Given the description of an element on the screen output the (x, y) to click on. 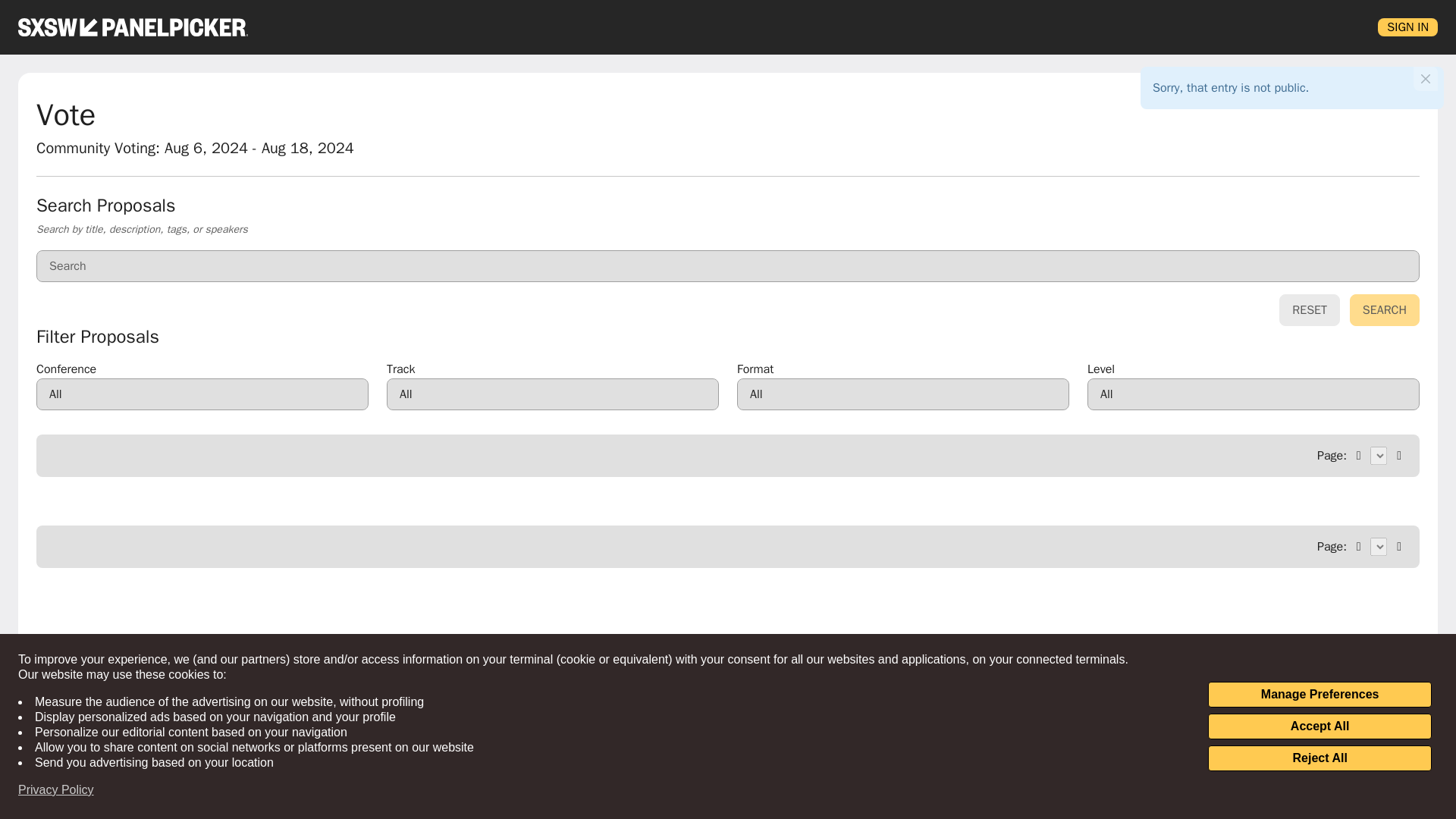
SXSW PanelPicker (132, 27)
Reset (1309, 309)
Accept All (1319, 726)
Reject All (1319, 758)
Search (1384, 309)
Manage Preferences (1319, 694)
Terms of Use (1131, 692)
Reset (1309, 309)
Privacy Policy (55, 789)
SXSW PanelPicker (132, 27)
